Given the description of an element on the screen output the (x, y) to click on. 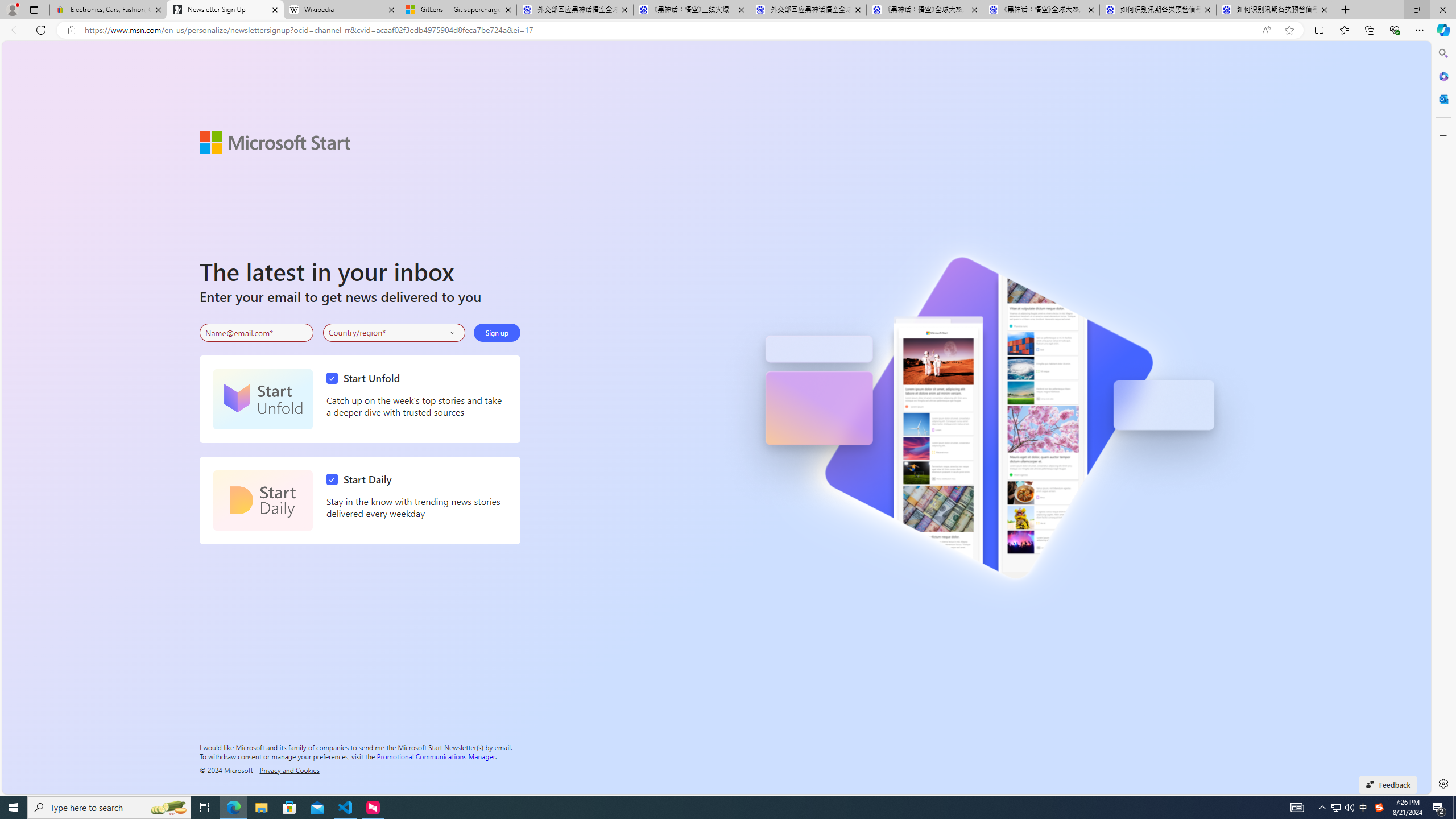
Start Daily (361, 479)
Start Daily (262, 500)
Select your country (393, 332)
Privacy and Cookies (289, 769)
